Given the description of an element on the screen output the (x, y) to click on. 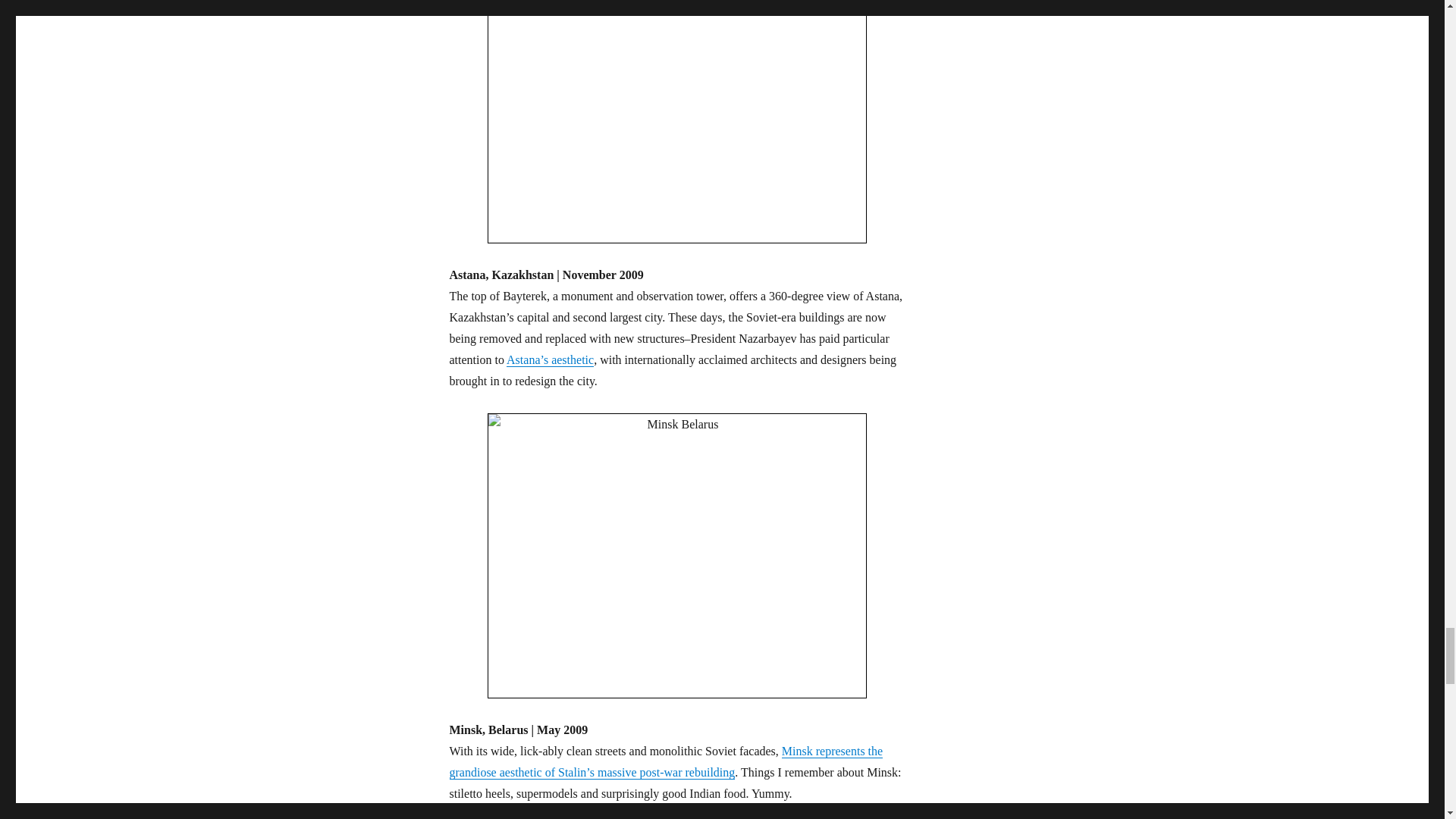
Minsk Belarus (676, 555)
Astana Kazakhstan Bayterek (676, 121)
